Given the description of an element on the screen output the (x, y) to click on. 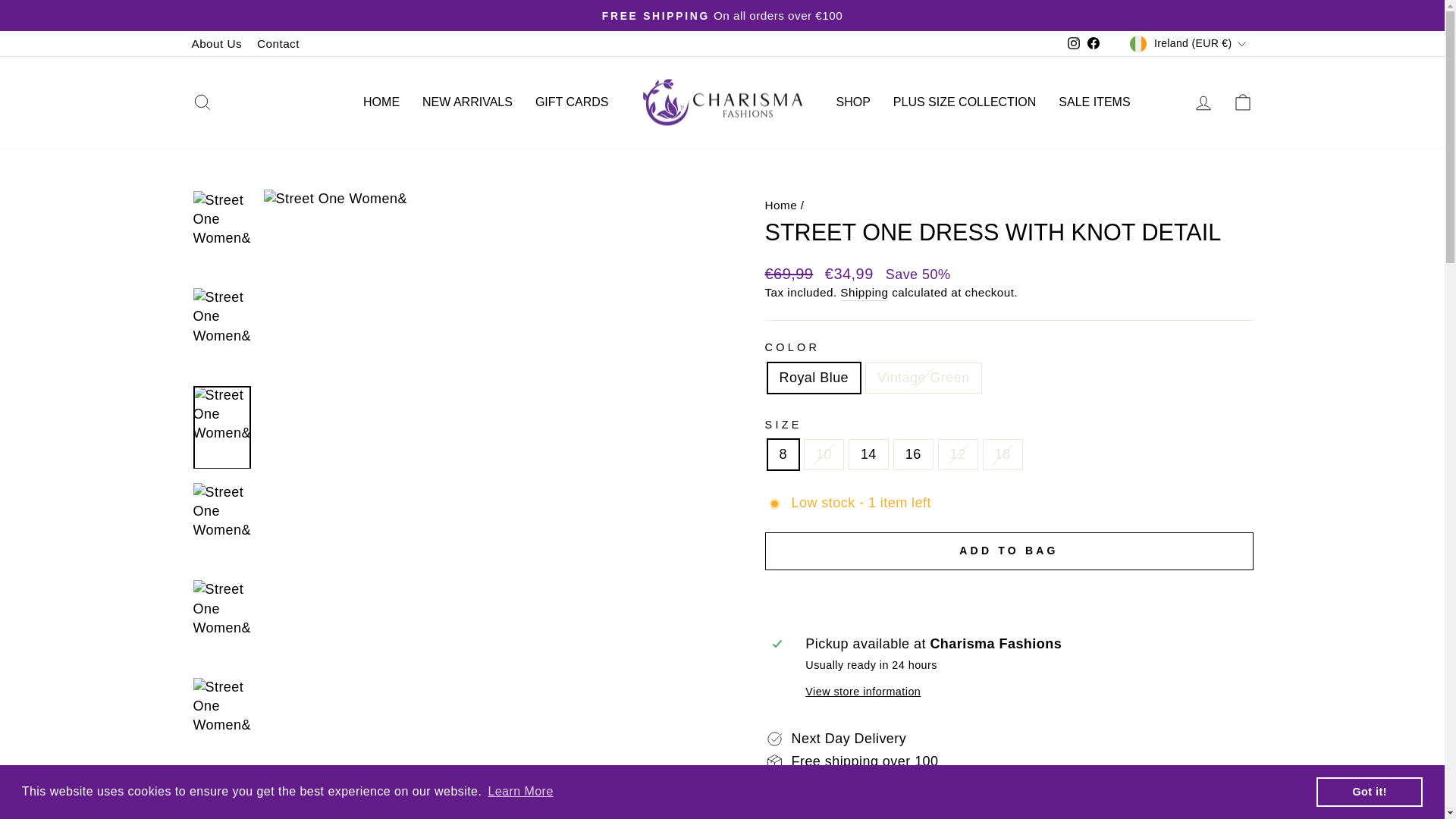
Learn More (520, 791)
Back to the frontpage (780, 205)
